Given the description of an element on the screen output the (x, y) to click on. 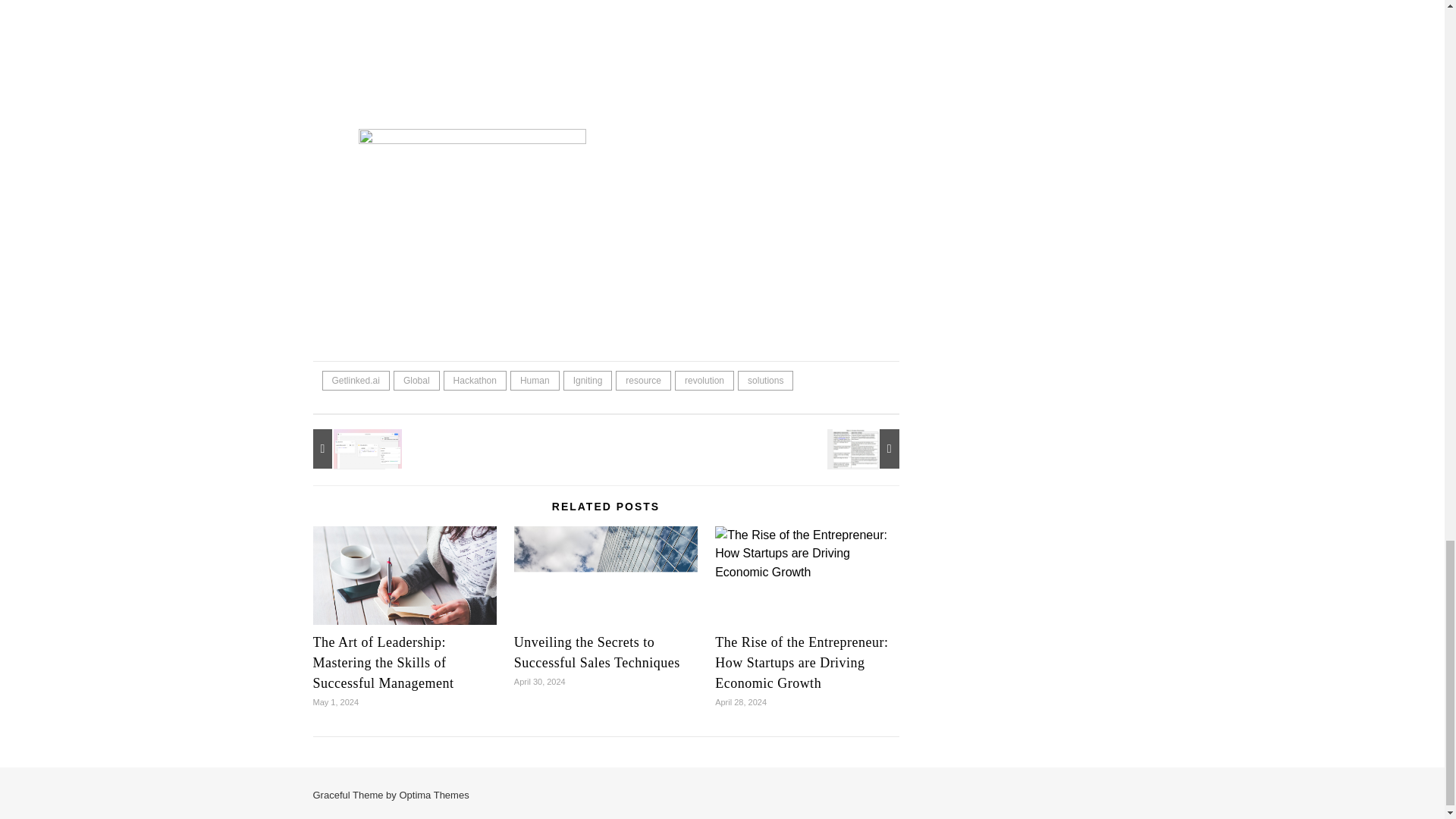
Unveiling the Secrets to Successful Sales Techniques (605, 587)
Getlinked.ai (354, 380)
resource (643, 380)
revolution (704, 380)
Global (416, 380)
solutions (765, 380)
Human (535, 380)
